Given the description of an element on the screen output the (x, y) to click on. 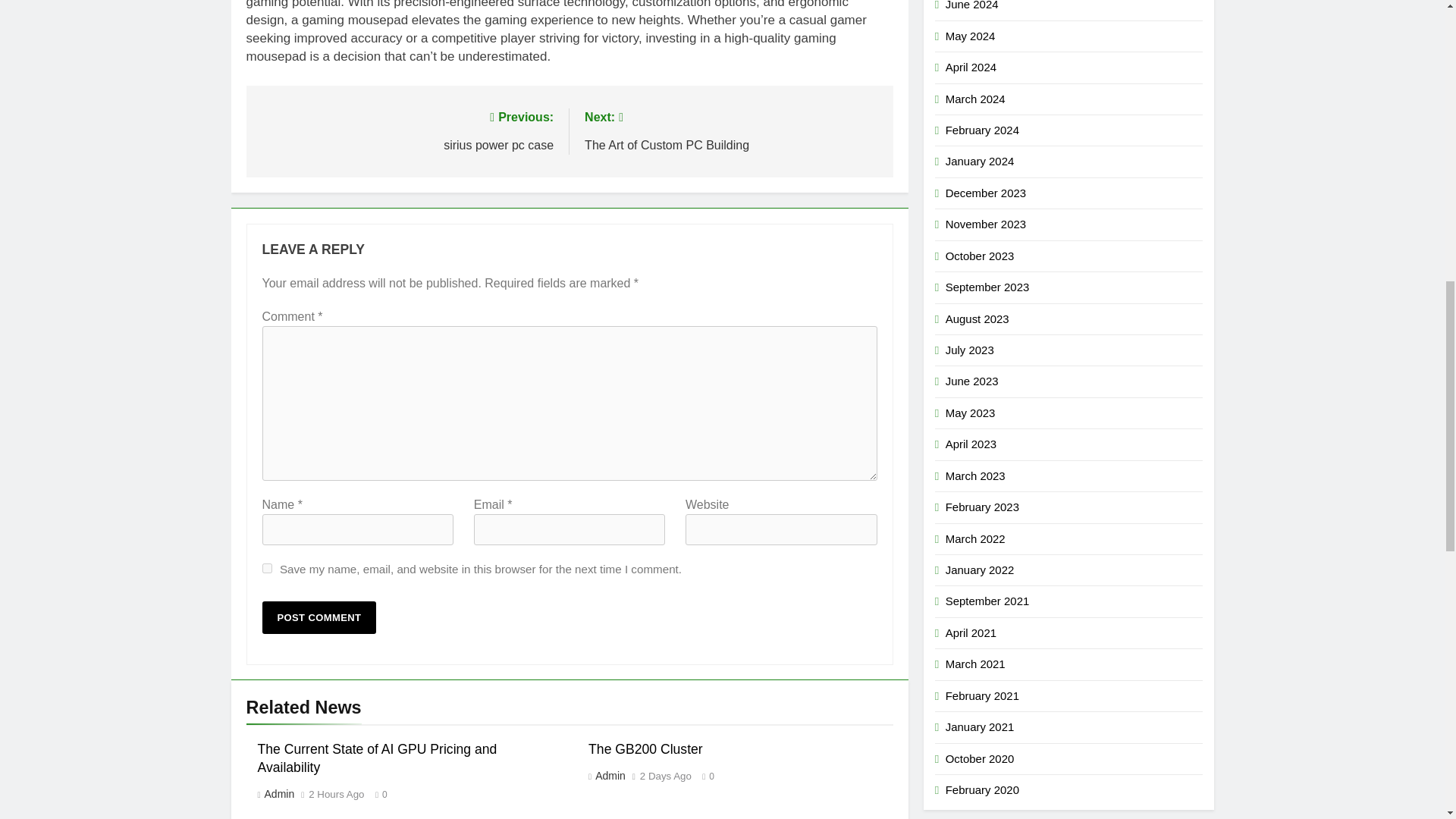
Post Comment (319, 617)
yes (267, 568)
